Given the description of an element on the screen output the (x, y) to click on. 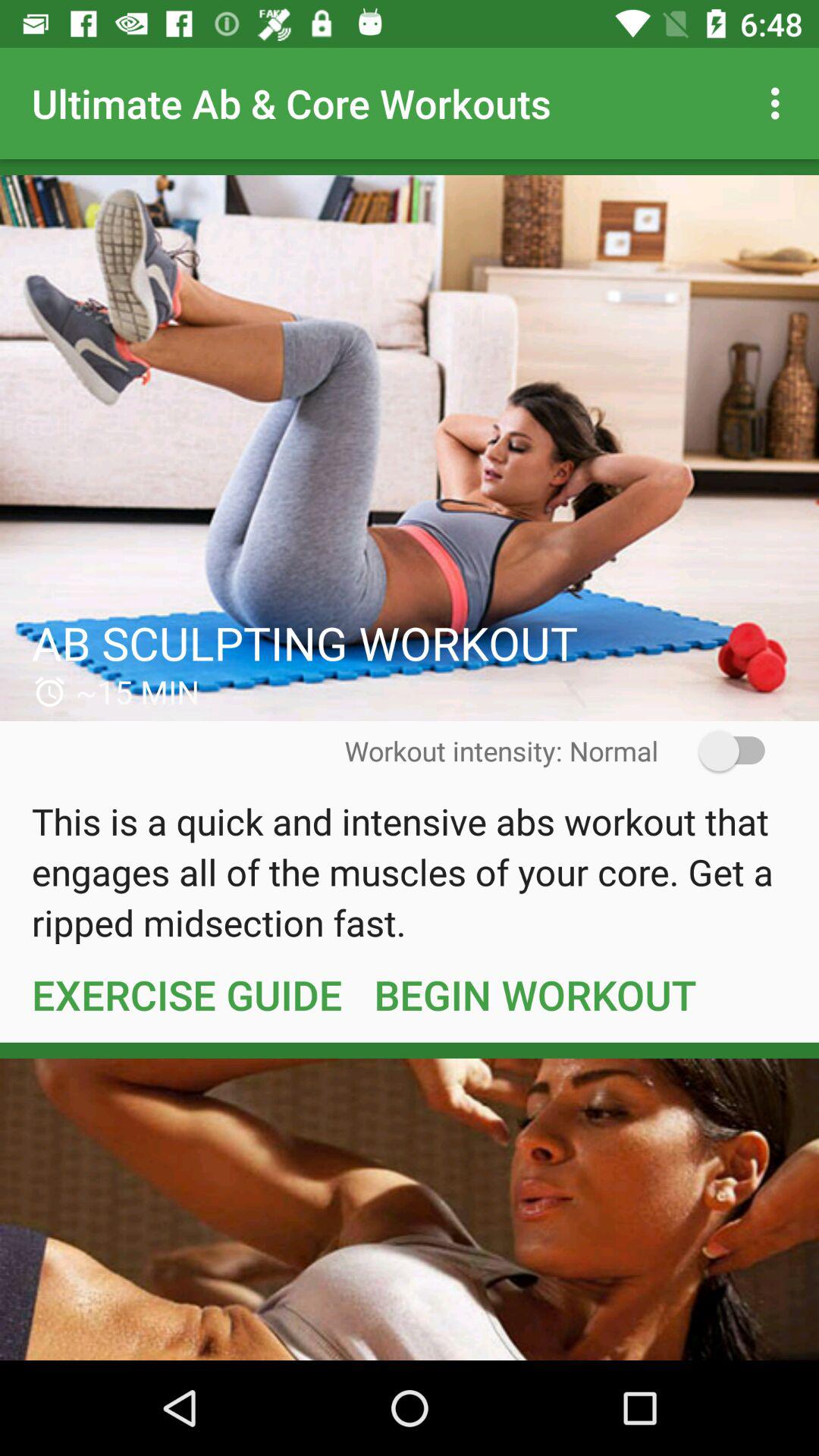
workout intensity toggle (722, 750)
